Given the description of an element on the screen output the (x, y) to click on. 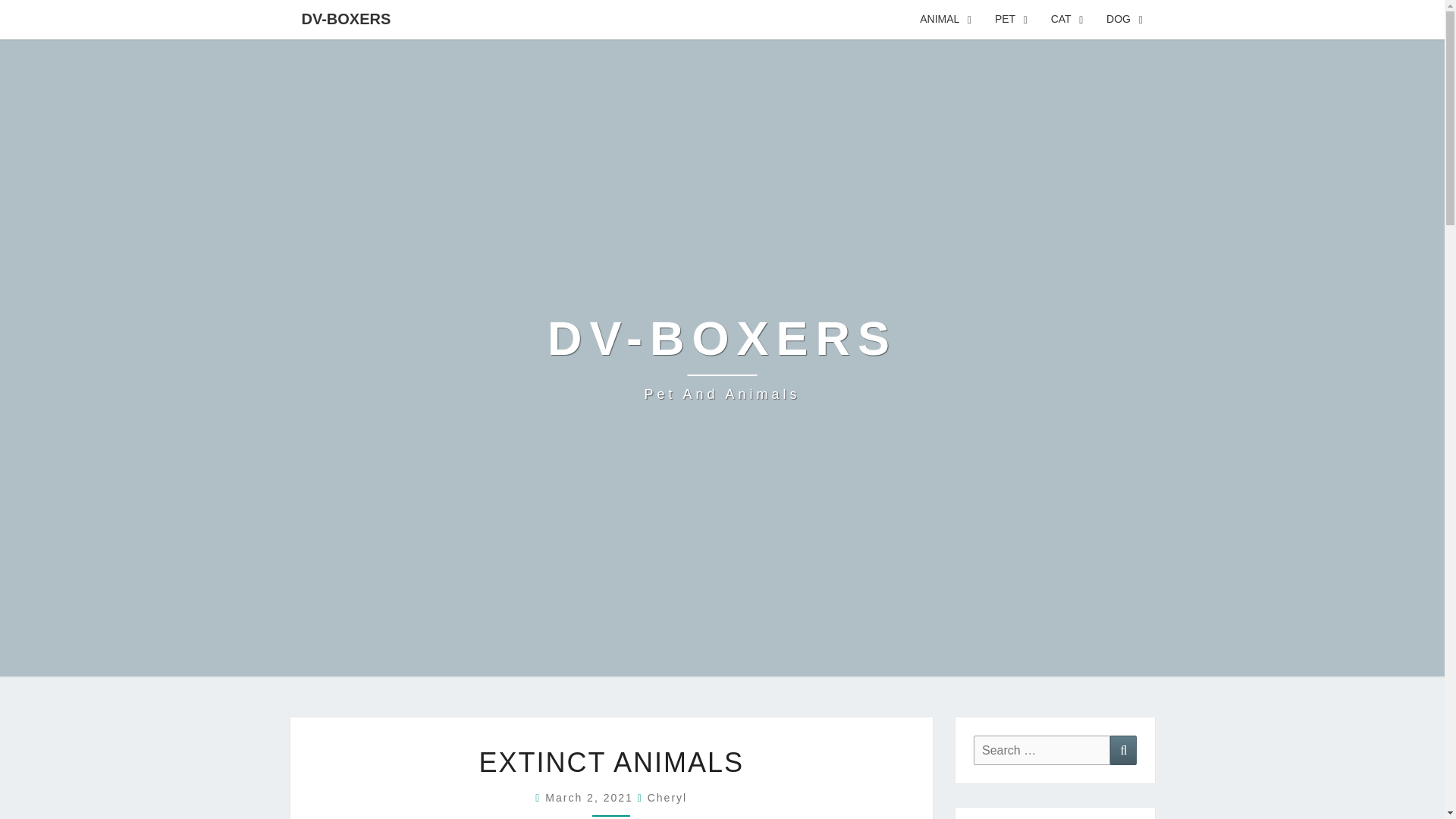
View all posts by Cheryl (667, 797)
Cheryl (667, 797)
DOG (1124, 19)
CAT (721, 357)
ANIMAL (1066, 19)
DV-BOXERS (946, 19)
DV-Boxers (345, 18)
Search (721, 357)
11:10 pm (1123, 749)
